Given the description of an element on the screen output the (x, y) to click on. 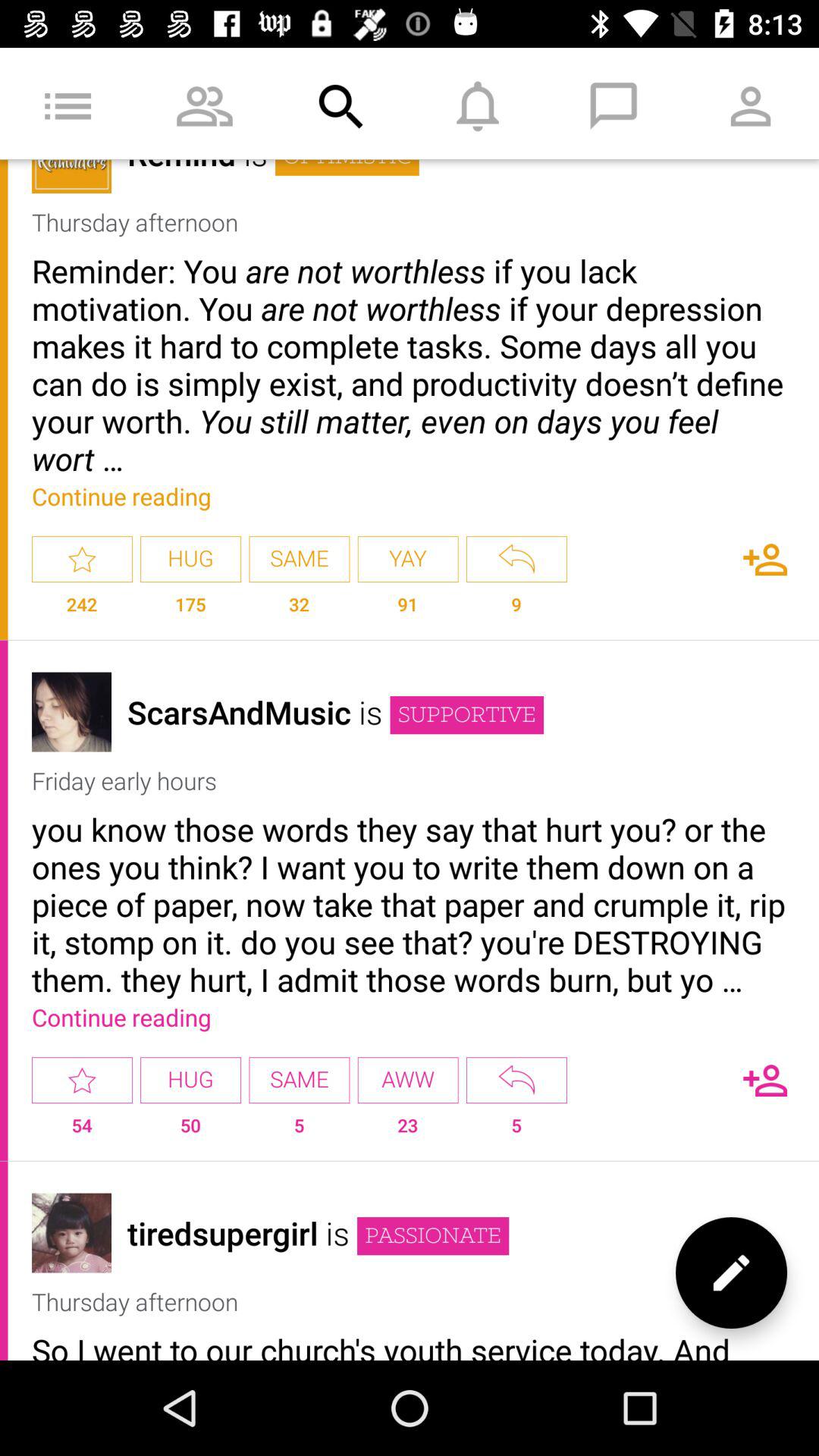
click item below the continue reading icon (407, 559)
